Given the description of an element on the screen output the (x, y) to click on. 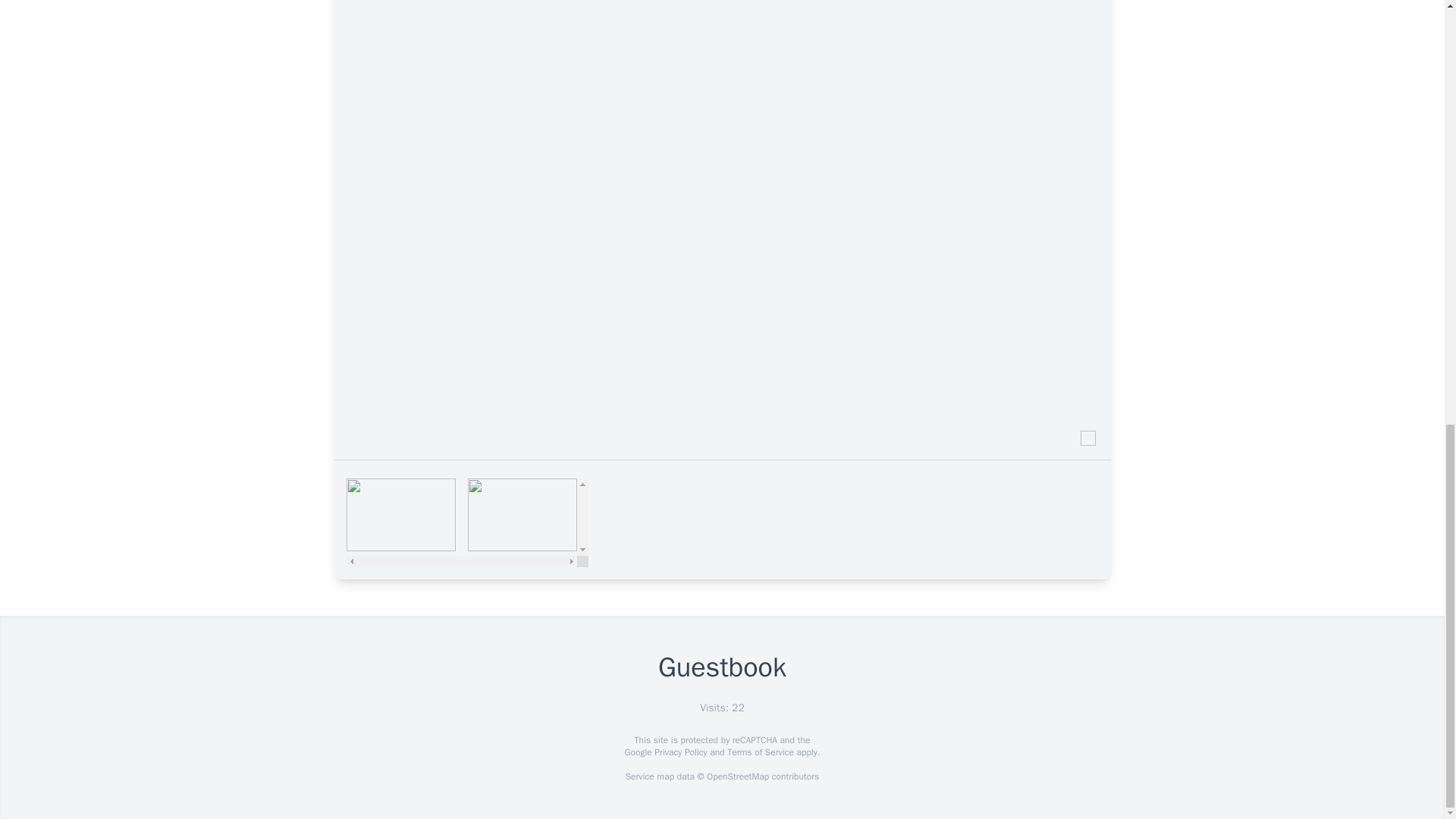
Terms of Service (759, 752)
OpenStreetMap (737, 776)
Privacy Policy (679, 752)
